Given the description of an element on the screen output the (x, y) to click on. 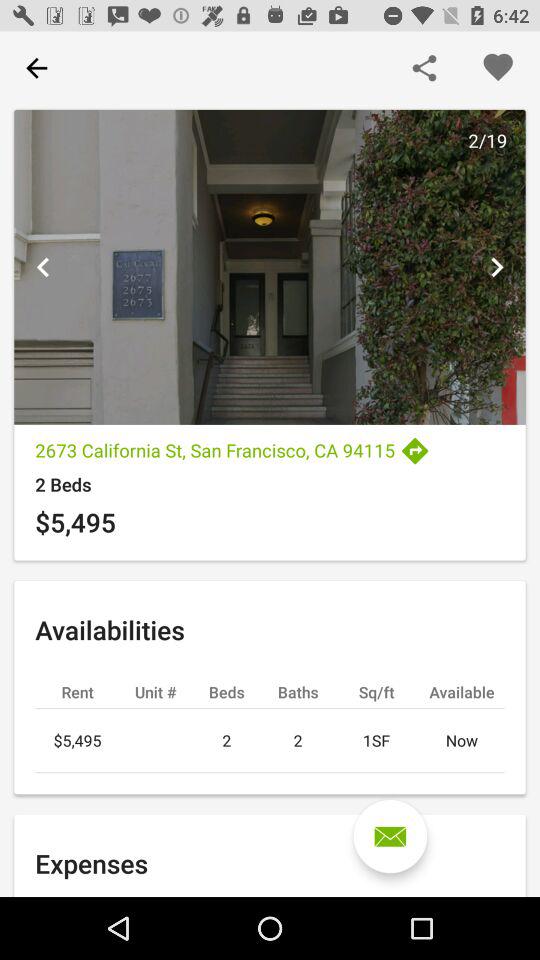
go back (36, 68)
